Given the description of an element on the screen output the (x, y) to click on. 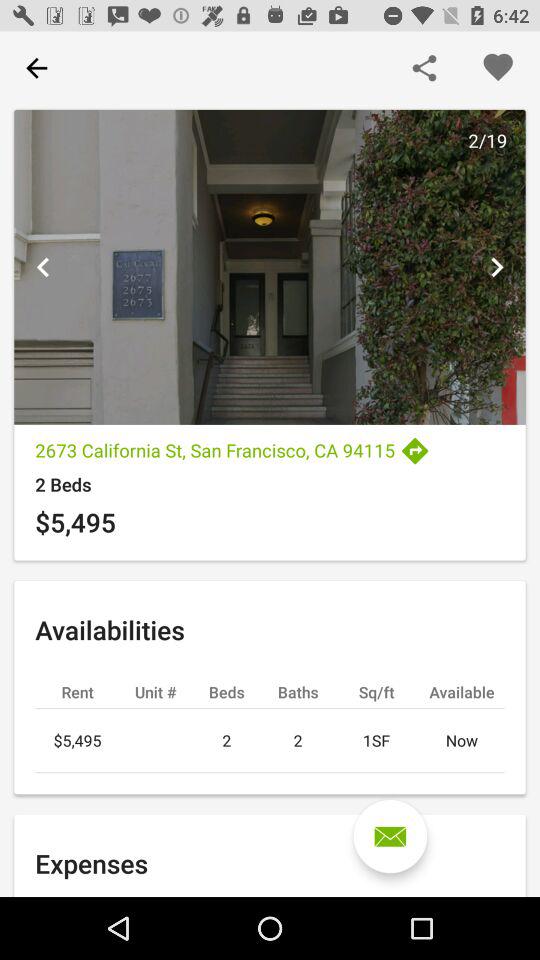
go back (36, 68)
